Given the description of an element on the screen output the (x, y) to click on. 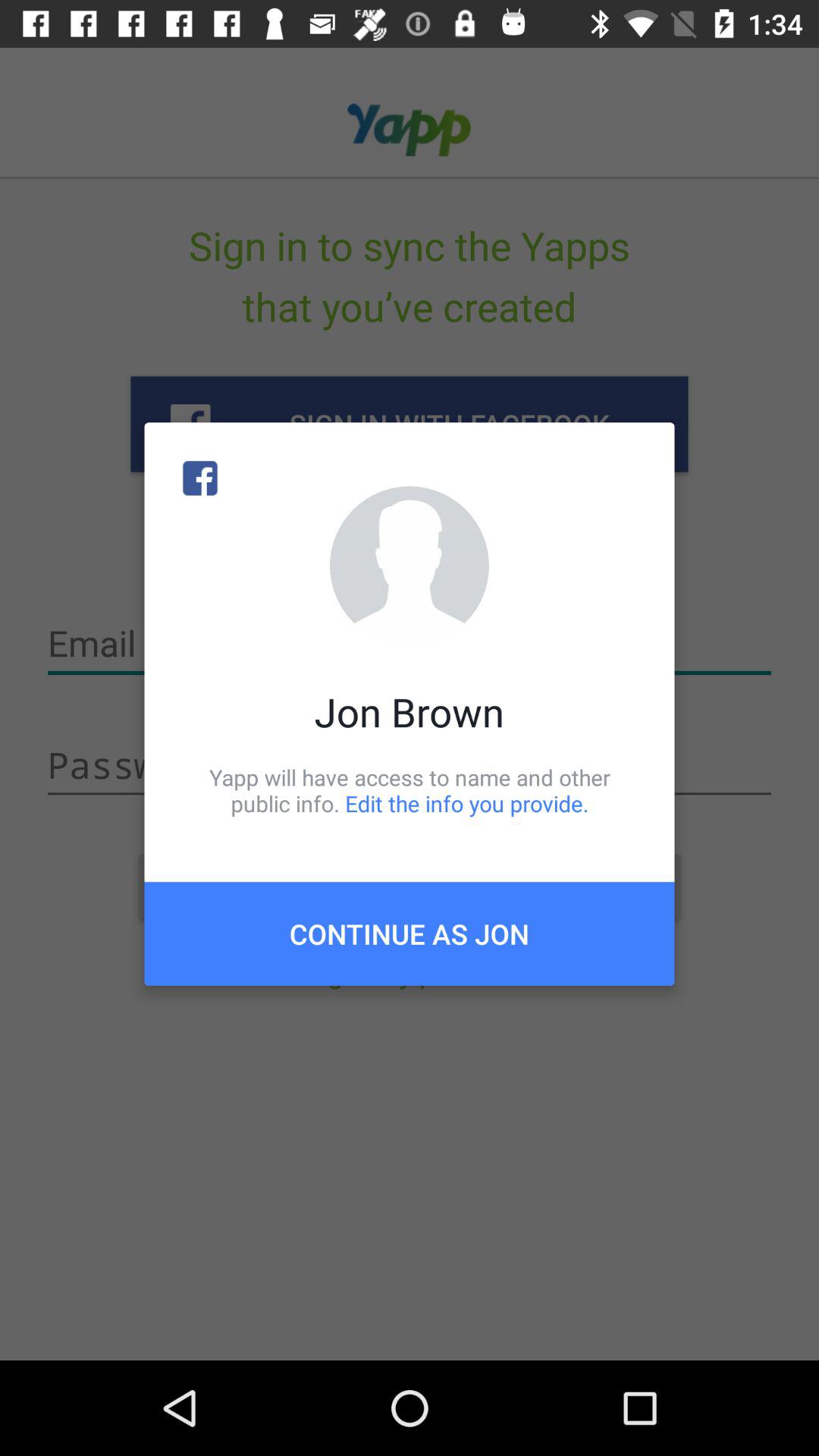
turn off icon below the yapp will have icon (409, 933)
